Given the description of an element on the screen output the (x, y) to click on. 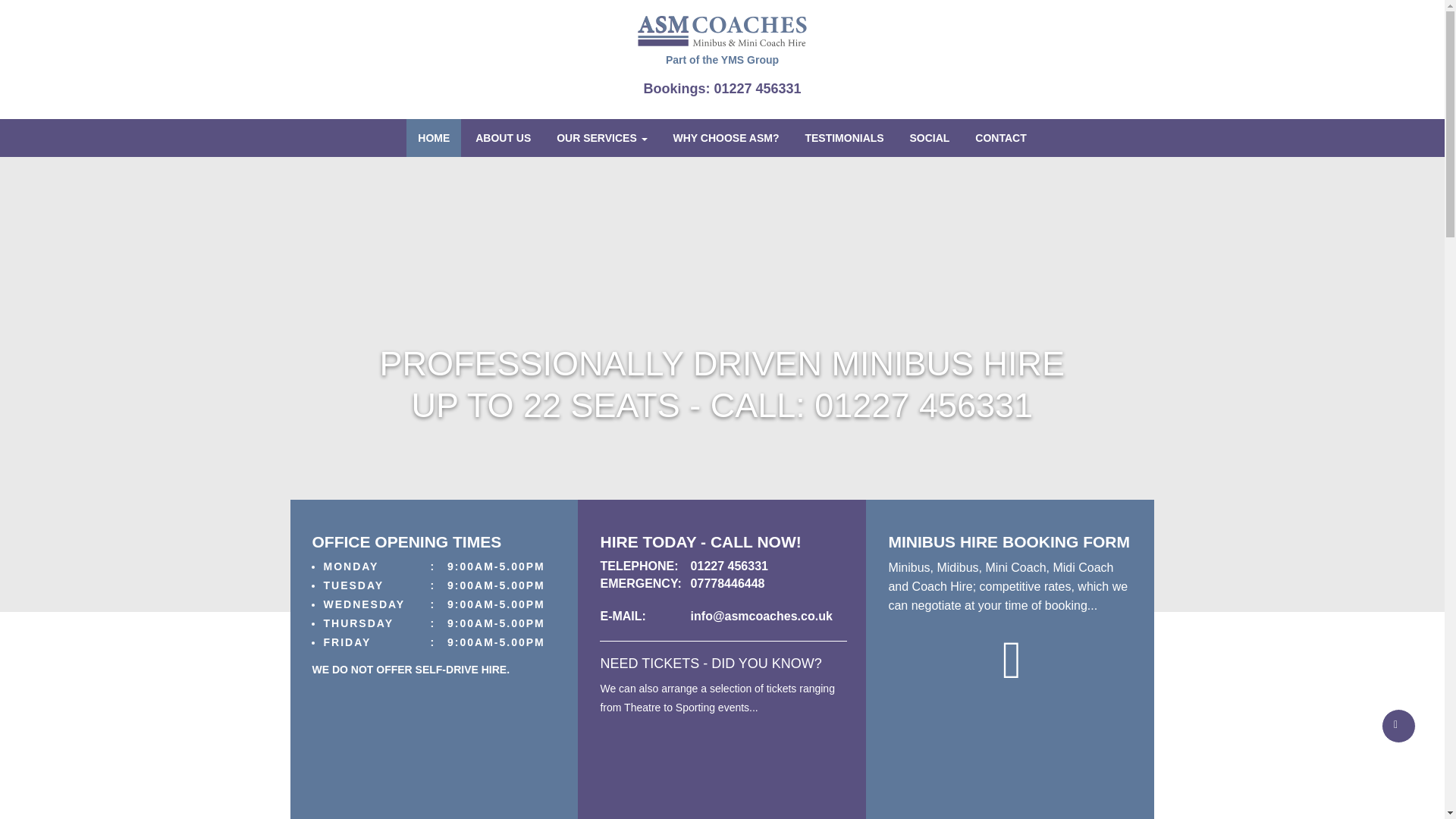
Ring Office (721, 88)
01227 456331 (729, 565)
Contact ASM Coaches (405, 541)
TESTIMONIALS (844, 137)
HOME (433, 137)
ABOUT US (502, 137)
SOCIAL (929, 137)
OUR SERVICES (601, 137)
WHY CHOOSE ASM? (725, 137)
07778446448 (727, 583)
